Given the description of an element on the screen output the (x, y) to click on. 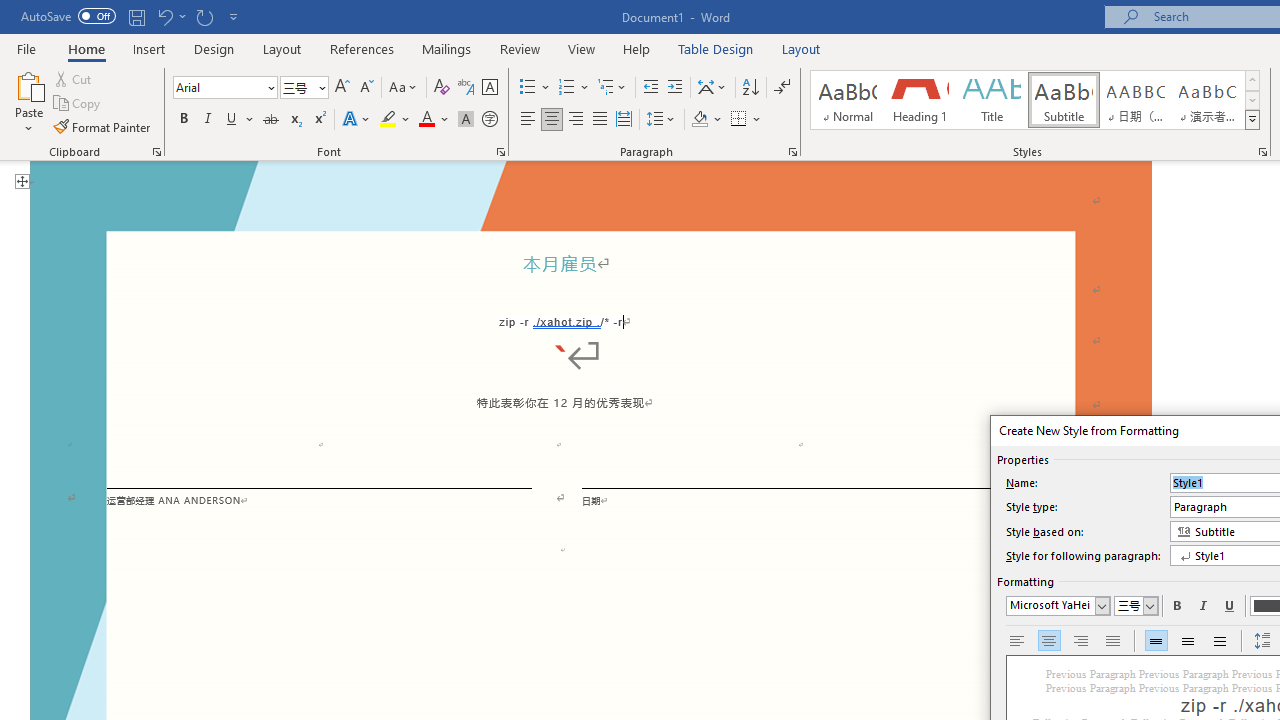
AutomationID: QuickStylesGallery (1035, 99)
Double Spacing (1220, 641)
1.5 Spacing (1188, 641)
Subtitle (1063, 100)
